Given the description of an element on the screen output the (x, y) to click on. 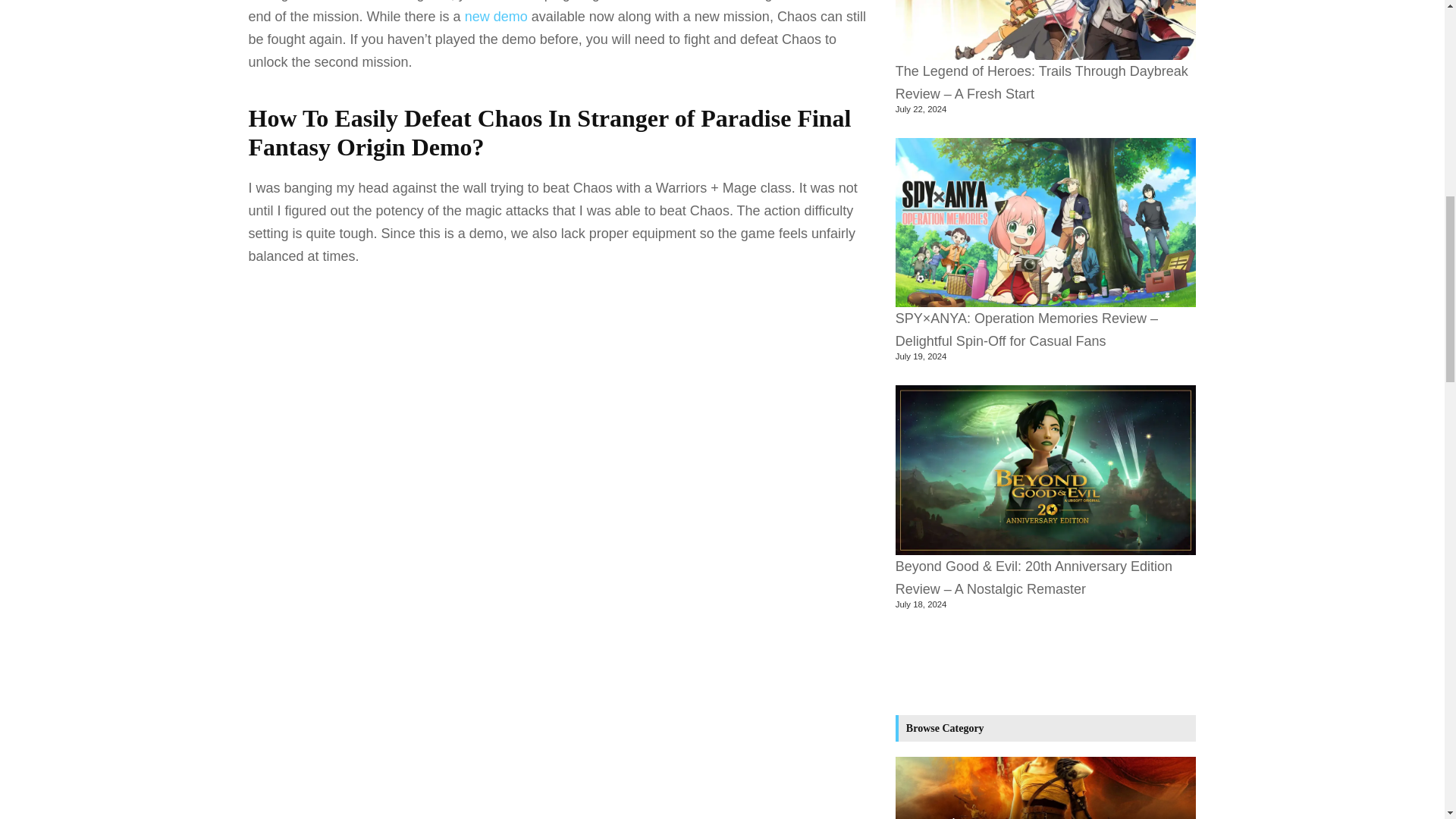
new demo (495, 16)
